Given the description of an element on the screen output the (x, y) to click on. 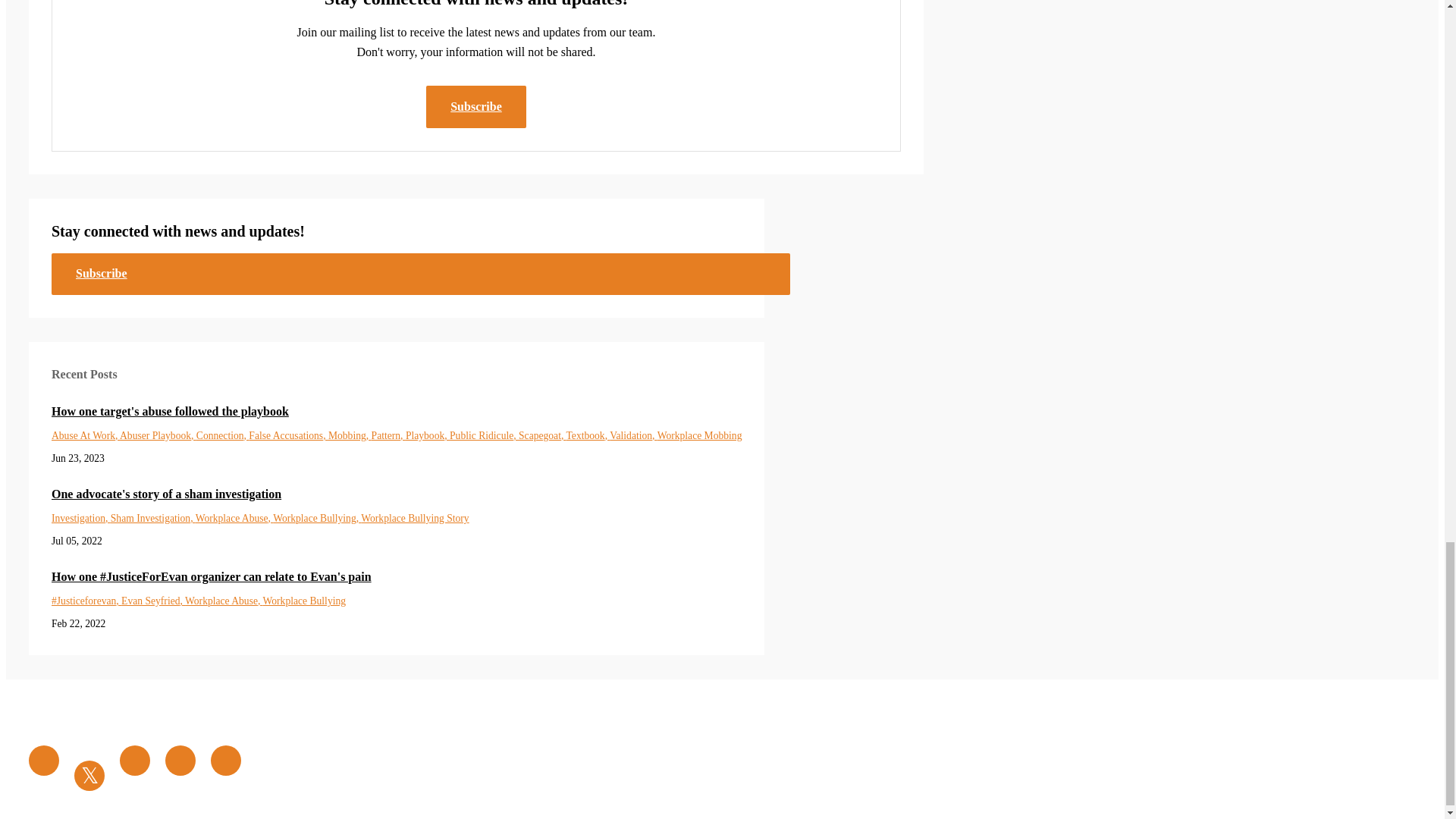
Workplace Mobbing (700, 435)
Textbook (588, 435)
Investigation (80, 518)
Connection (222, 435)
Workplace Bullying (317, 518)
Abuser Playbook (157, 435)
One advocate's story of a sham investigation (395, 494)
Sham Investigation (152, 518)
Workplace Abuse (234, 518)
Playbook (427, 435)
